Given the description of an element on the screen output the (x, y) to click on. 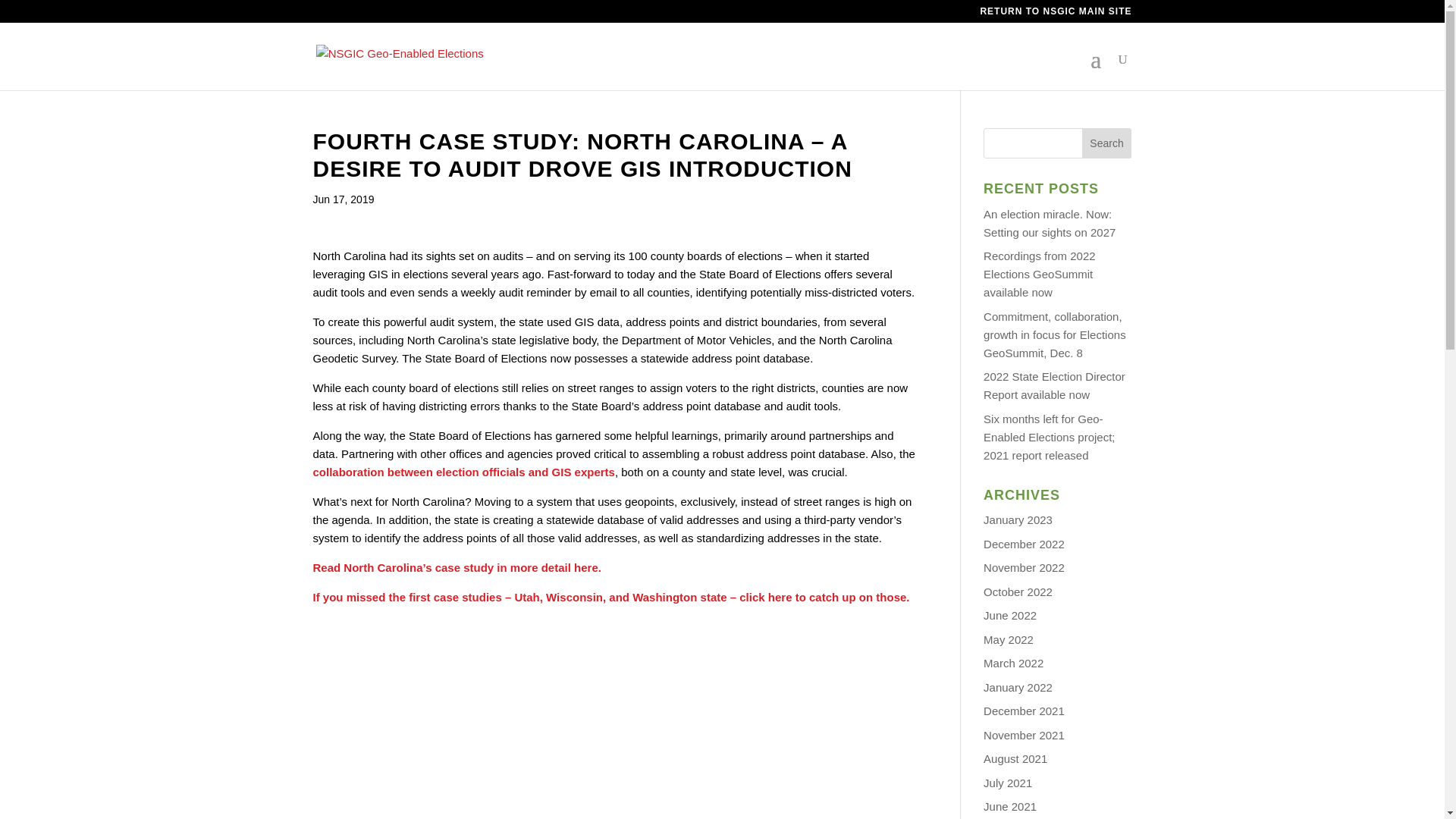
November 2022 (1024, 567)
Recordings from 2022 Elections GeoSummit available now (1040, 273)
collaboration between election officials and GIS experts (463, 472)
Search (1106, 142)
July 2021 (1008, 782)
RETURN TO NSGIC MAIN SITE (1055, 14)
June 2022 (1010, 615)
December 2021 (1024, 710)
2022 State Election Director Report available now (1054, 385)
May 2022 (1008, 639)
March 2022 (1013, 662)
January 2023 (1018, 519)
October 2022 (1018, 591)
Search (1106, 142)
